Given the description of an element on the screen output the (x, y) to click on. 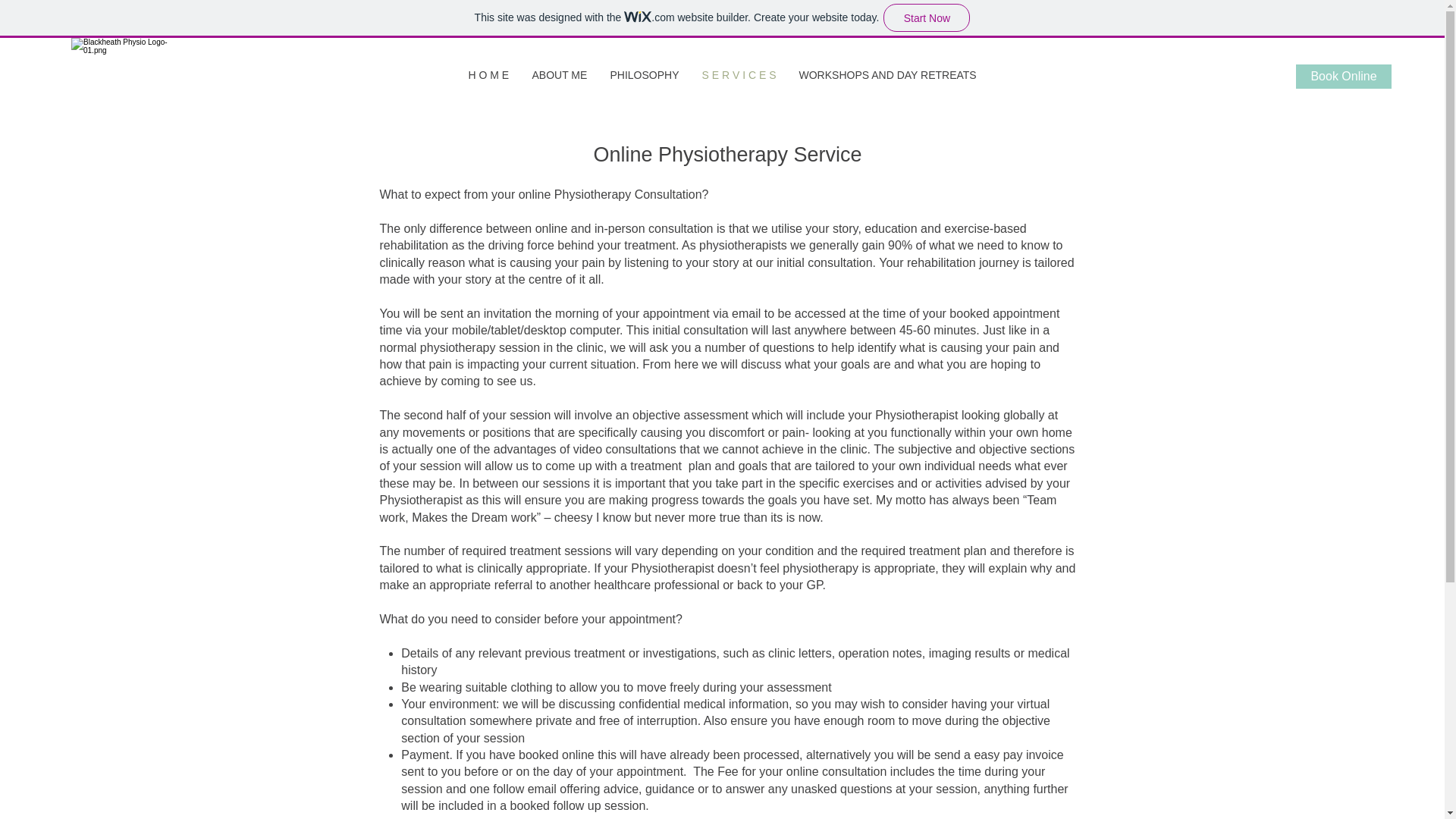
H O M E (488, 74)
WORKSHOPS AND DAY RETREATS (887, 74)
PHILOSOPHY (644, 74)
Book Online (1343, 76)
S E R V I C E S (738, 74)
ABOUT ME (558, 74)
